Given the description of an element on the screen output the (x, y) to click on. 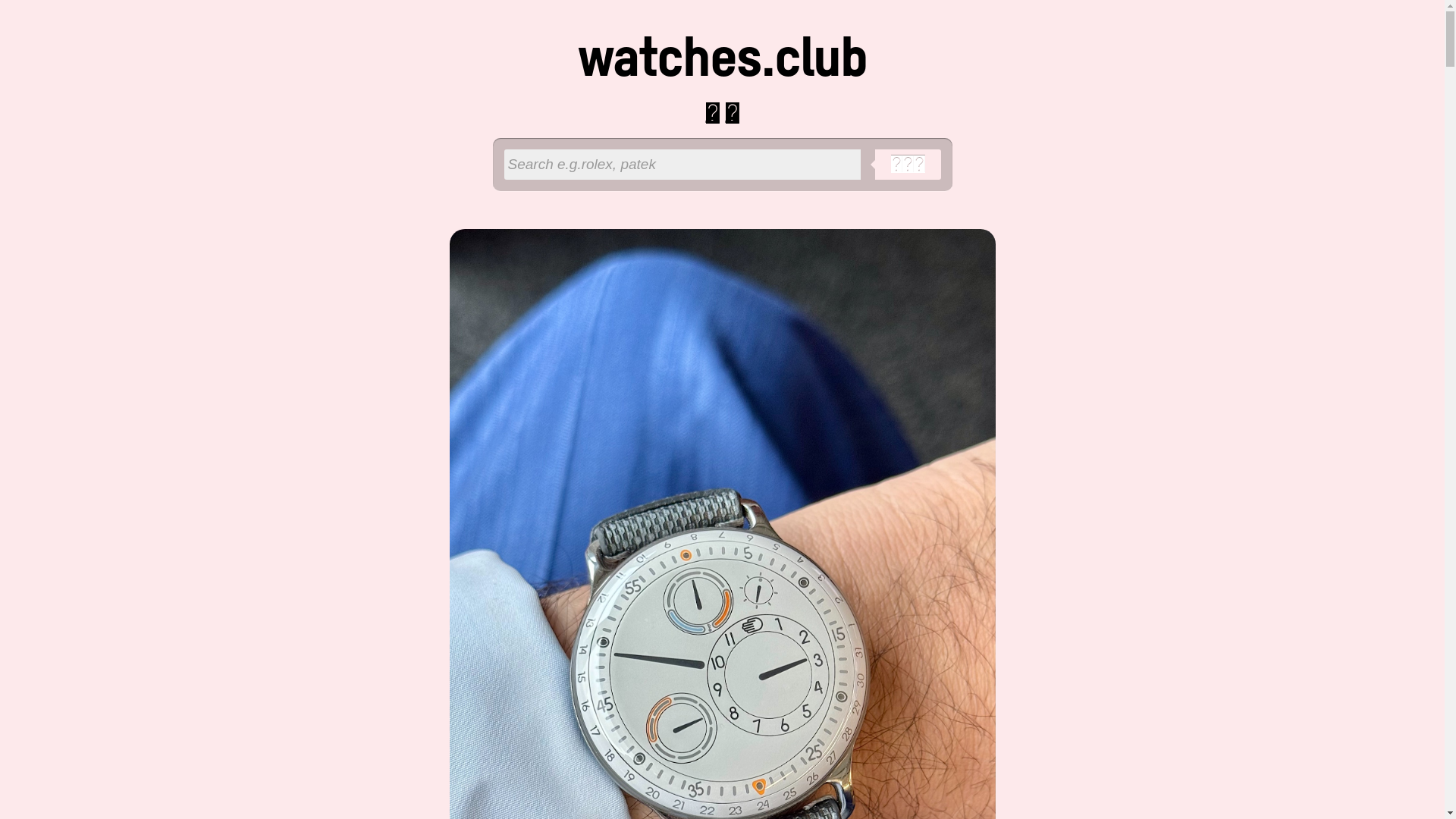
watches.club Element type: text (721, 60)
